Given the description of an element on the screen output the (x, y) to click on. 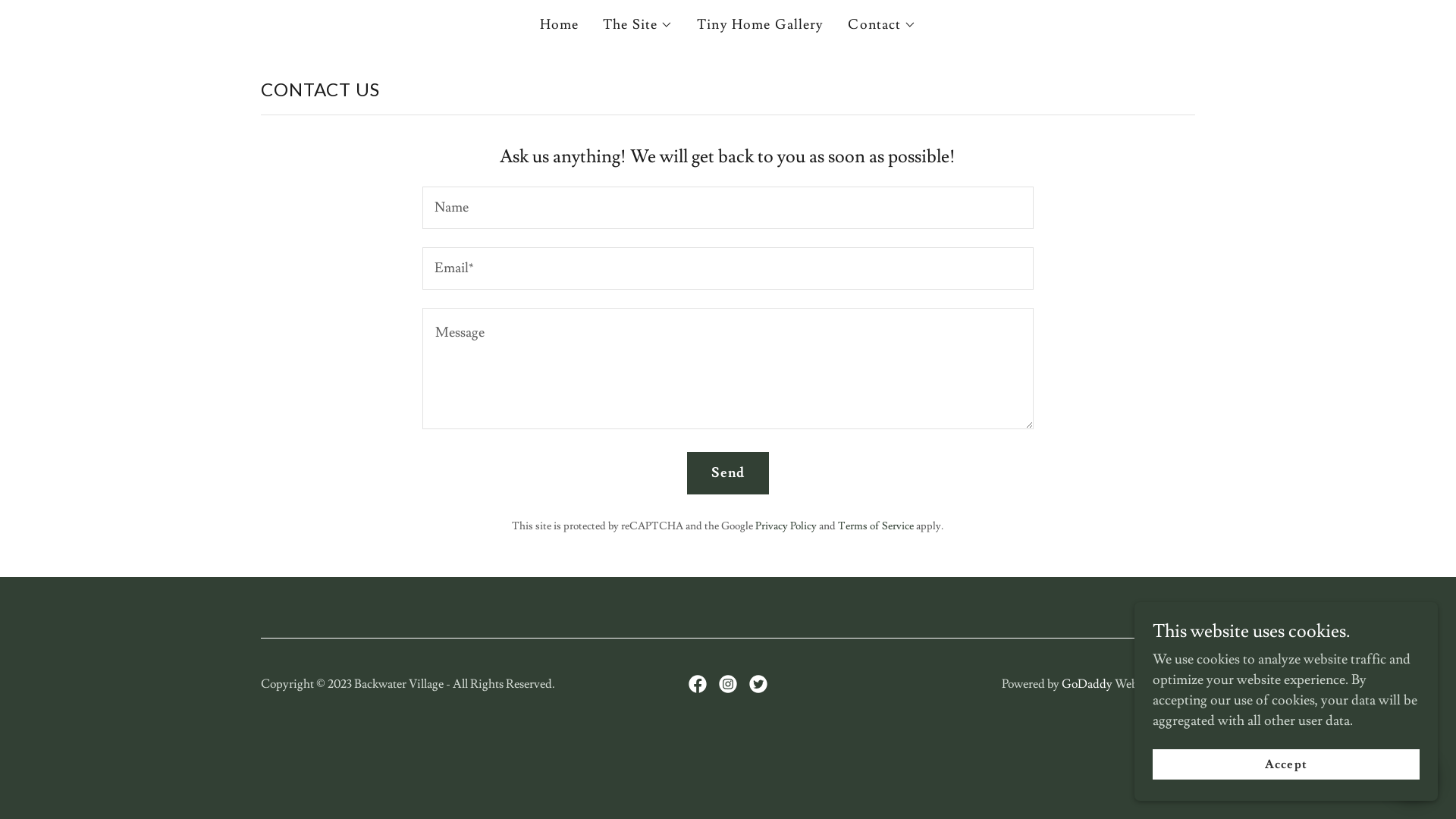
Privacy Policy Element type: text (785, 526)
GoDaddy Element type: text (1086, 683)
Home Element type: text (559, 24)
Terms of Service Element type: text (875, 526)
Send Element type: text (728, 472)
Accept Element type: text (1285, 764)
Contact Element type: text (881, 24)
The Site Element type: text (637, 24)
Tiny Home Gallery Element type: text (760, 24)
